Given the description of an element on the screen output the (x, y) to click on. 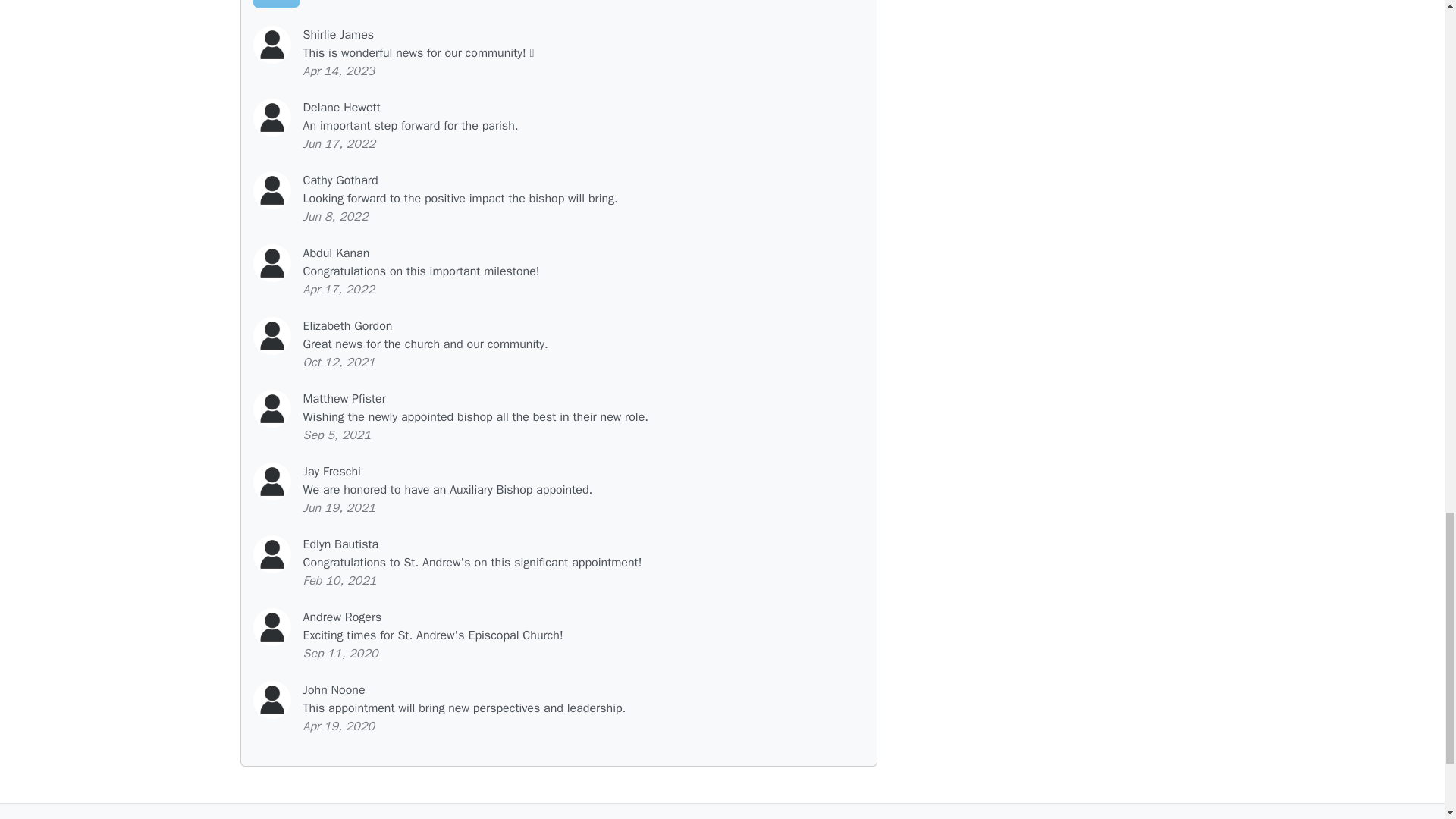
Send (276, 3)
Send (276, 3)
